Given the description of an element on the screen output the (x, y) to click on. 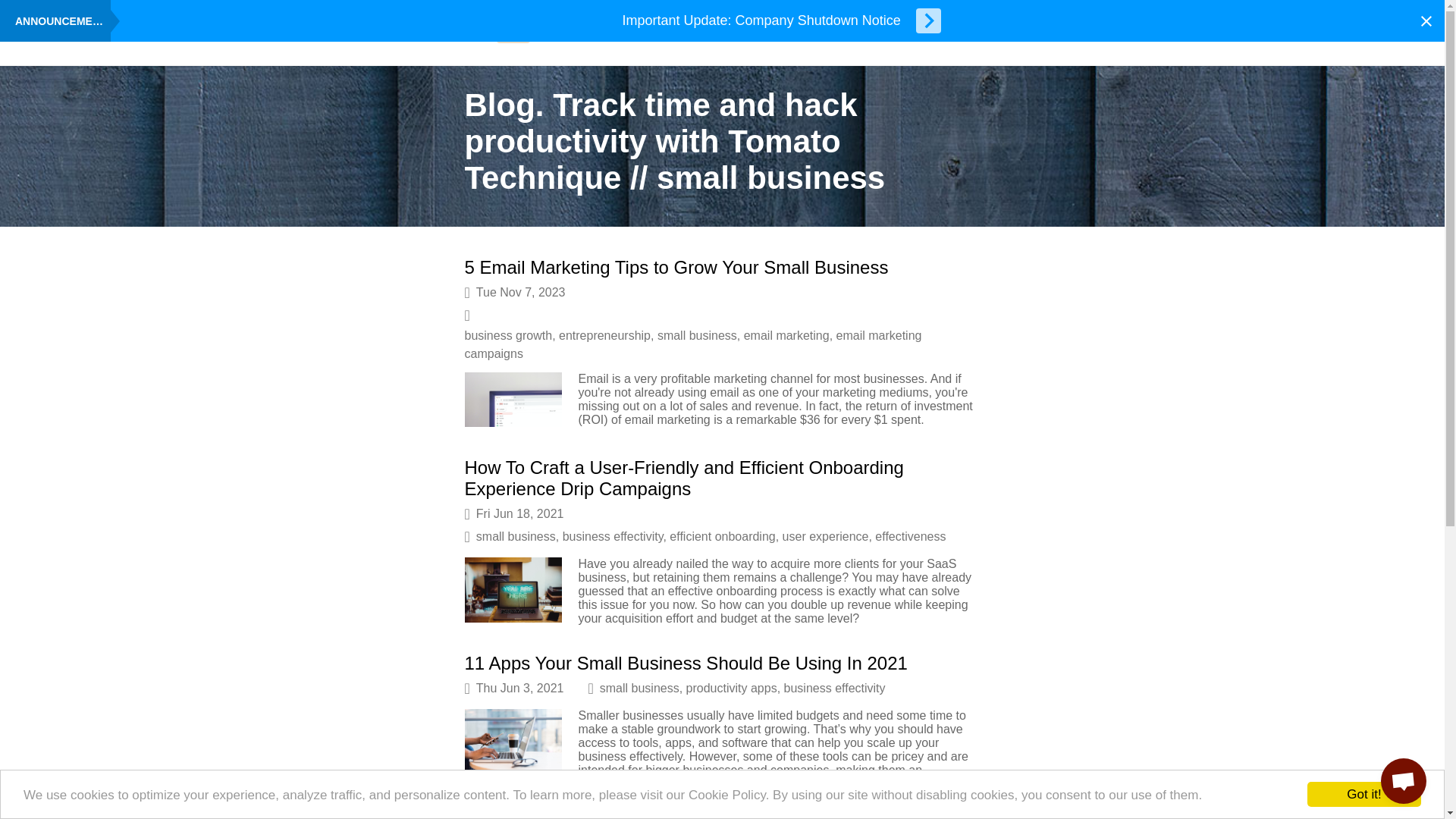
Blog. Track time and hack productivity with Tomato Technique (512, 34)
Download RoundPie for free! (467, 34)
email marketing campaigns (692, 344)
About (417, 34)
business effectivity (612, 535)
Press (582, 34)
My Account (1142, 34)
small business (697, 335)
small business (639, 687)
Download (467, 34)
About (417, 34)
11 Apps Your Small Business Should Be Using In 2021 (685, 662)
business effectivity (834, 687)
